Given the description of an element on the screen output the (x, y) to click on. 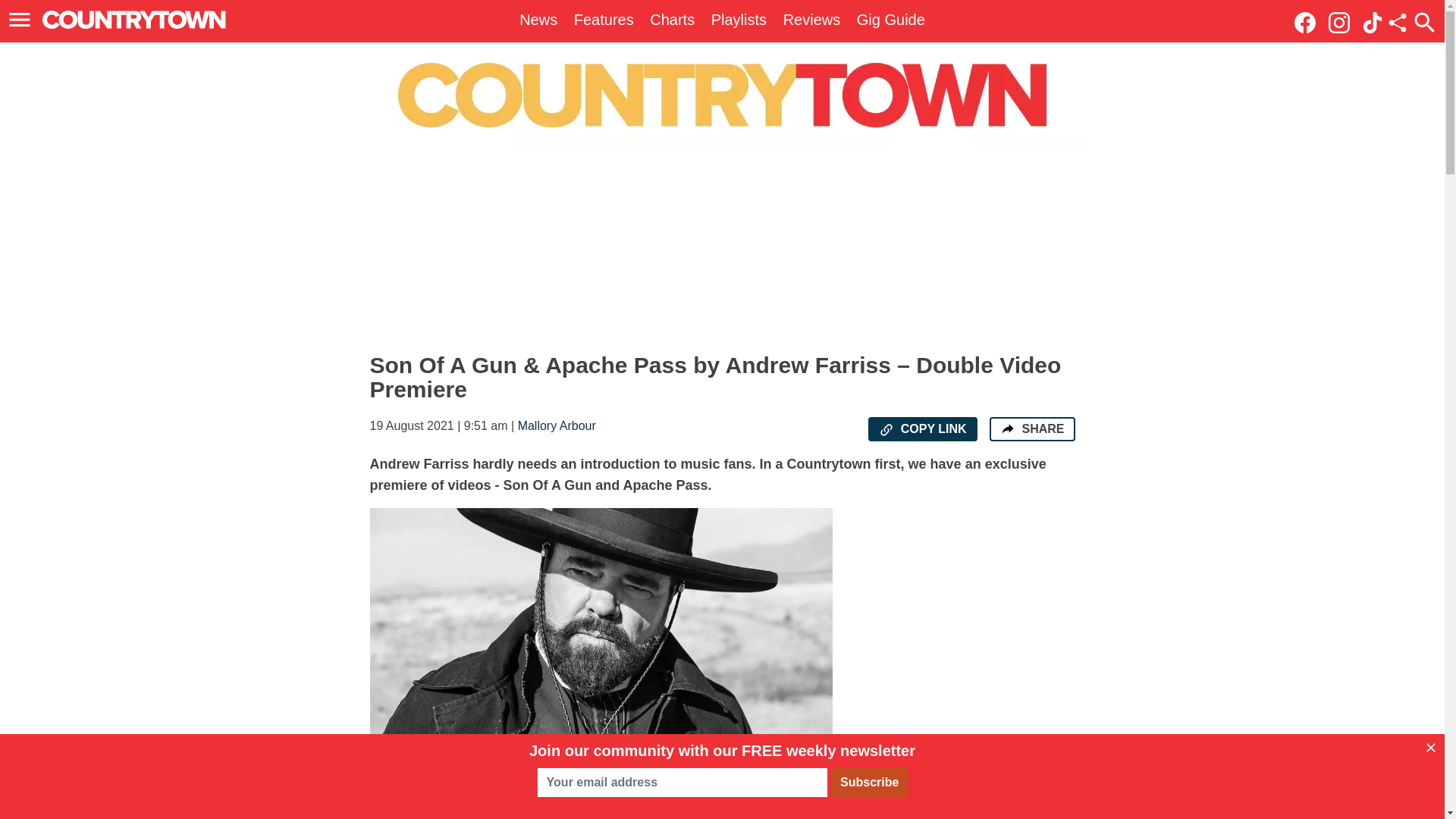
Share the page SHARE (1032, 428)
Link to our TikTok (1372, 21)
Charts (671, 19)
Gig Guide (890, 19)
Open the main menu (22, 19)
Features (603, 19)
Open the site search menu (1424, 22)
News (538, 19)
Share this page (1397, 22)
Link to our Facebook (1309, 21)
Open the site search menu (1424, 22)
Reviews (812, 19)
Share the page (1007, 427)
Open the main menu (19, 19)
